Given the description of an element on the screen output the (x, y) to click on. 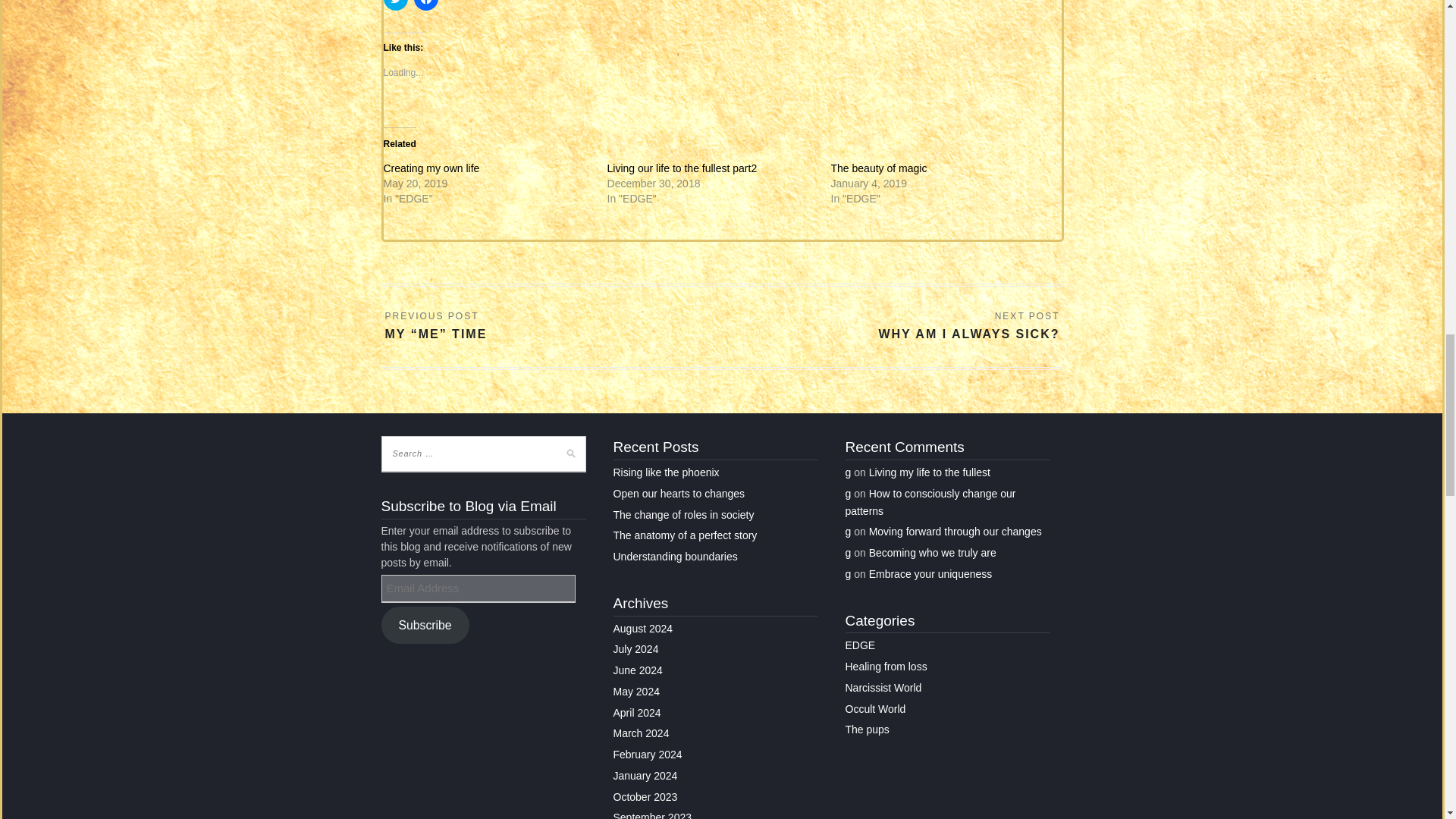
The anatomy of a perfect story (684, 535)
July 2024 (635, 648)
Creating my own life (432, 168)
The beauty of magic (879, 168)
March 2024 (640, 733)
WHY AM I ALWAYS SICK? (968, 326)
January 2024 (644, 775)
The beauty of magic (879, 168)
Click to share on Twitter (395, 5)
The change of roles in society (683, 514)
